Given the description of an element on the screen output the (x, y) to click on. 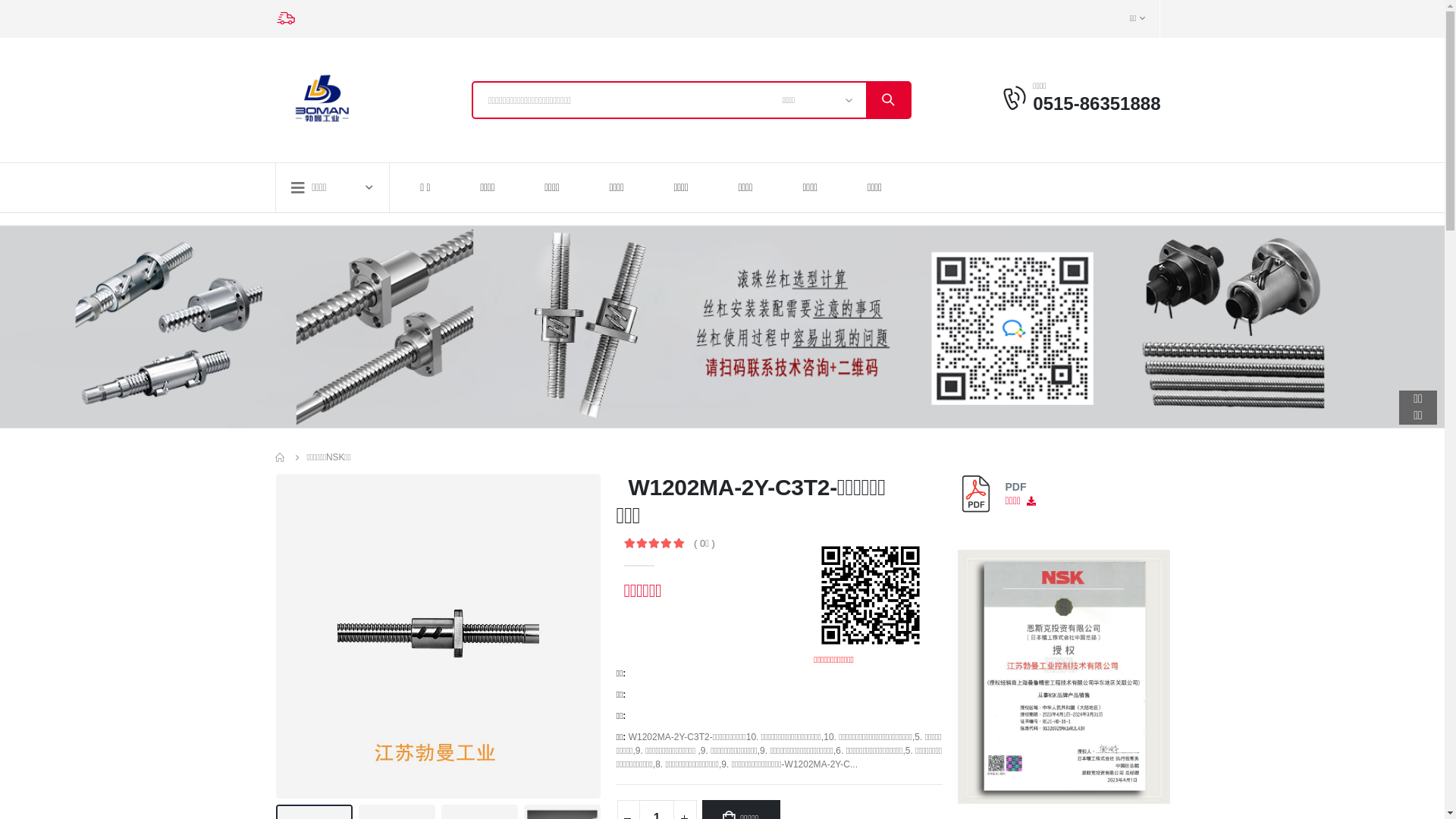
login Element type: hover (1016, 98)
search Element type: hover (888, 99)
